Given the description of an element on the screen output the (x, y) to click on. 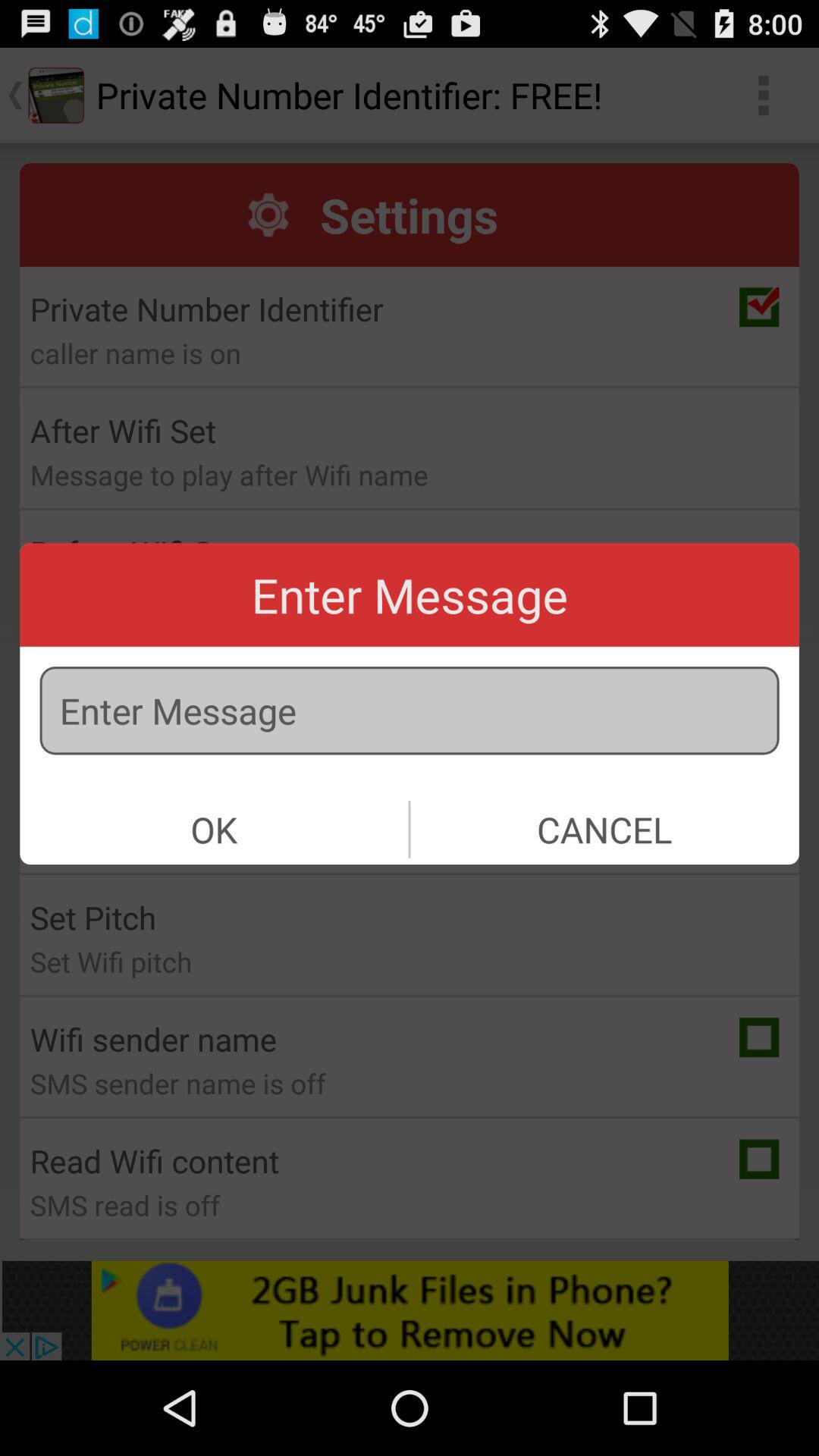
select ok icon (213, 829)
